Given the description of an element on the screen output the (x, y) to click on. 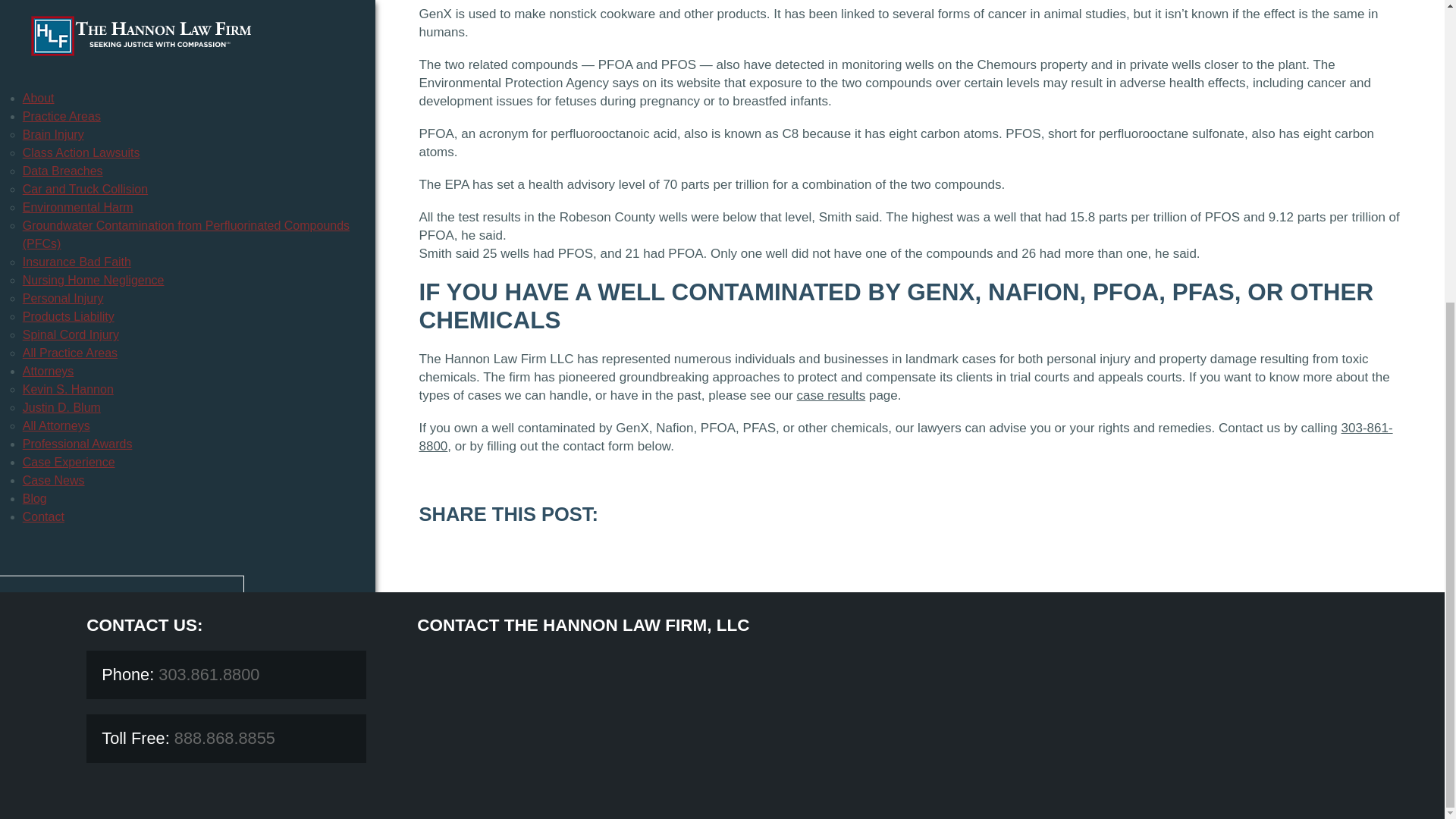
Call (122, 146)
case results (830, 395)
Toll Free (222, 737)
Contact (43, 43)
Call Us (208, 674)
Case News (53, 7)
303.861.8800 (208, 674)
303-861-8800 (905, 436)
Blog (34, 25)
888.868.8855 (222, 737)
